Given the description of an element on the screen output the (x, y) to click on. 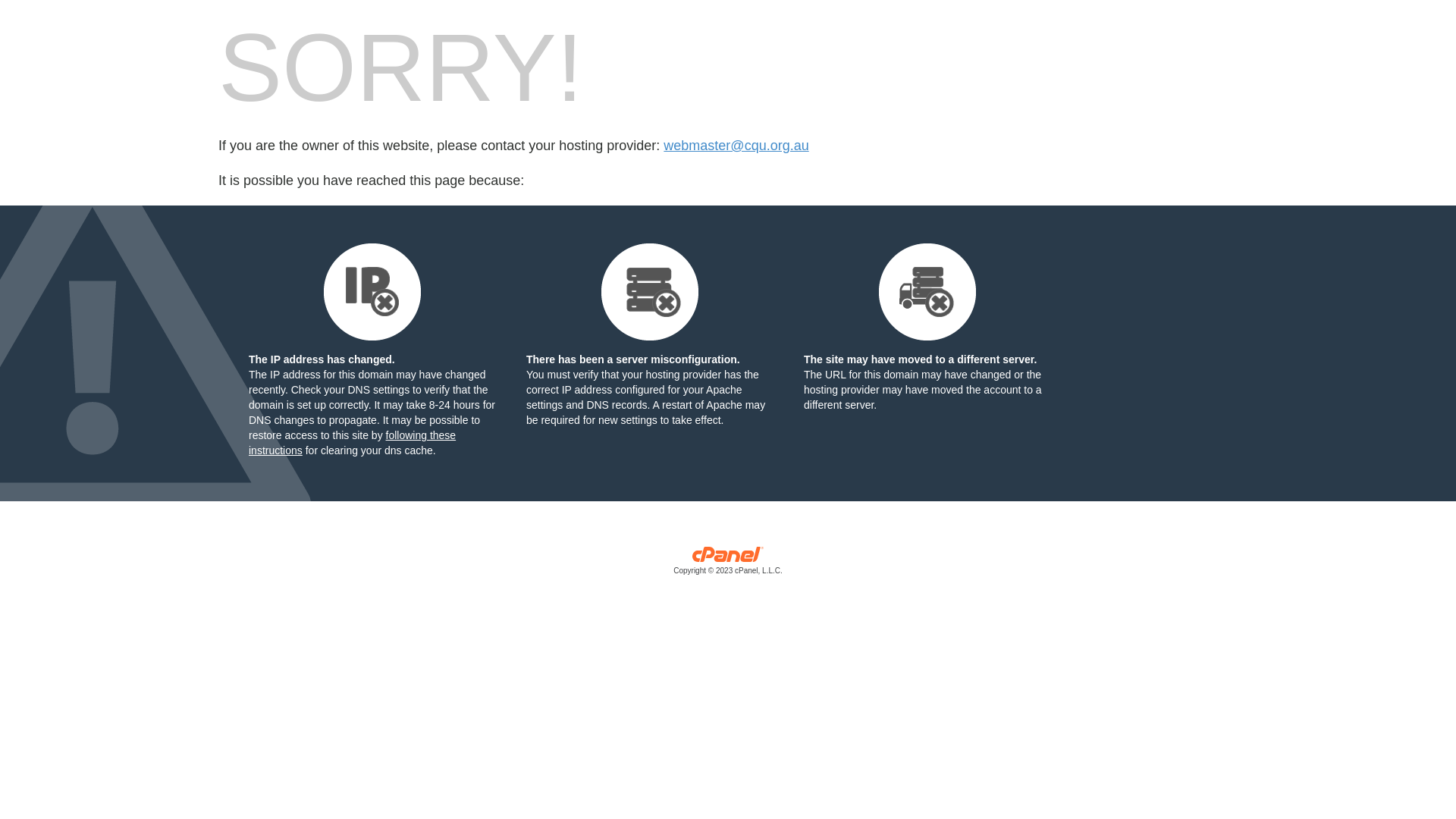
following these instructions Element type: text (351, 442)
webmaster@cqu.org.au Element type: text (735, 145)
